Given the description of an element on the screen output the (x, y) to click on. 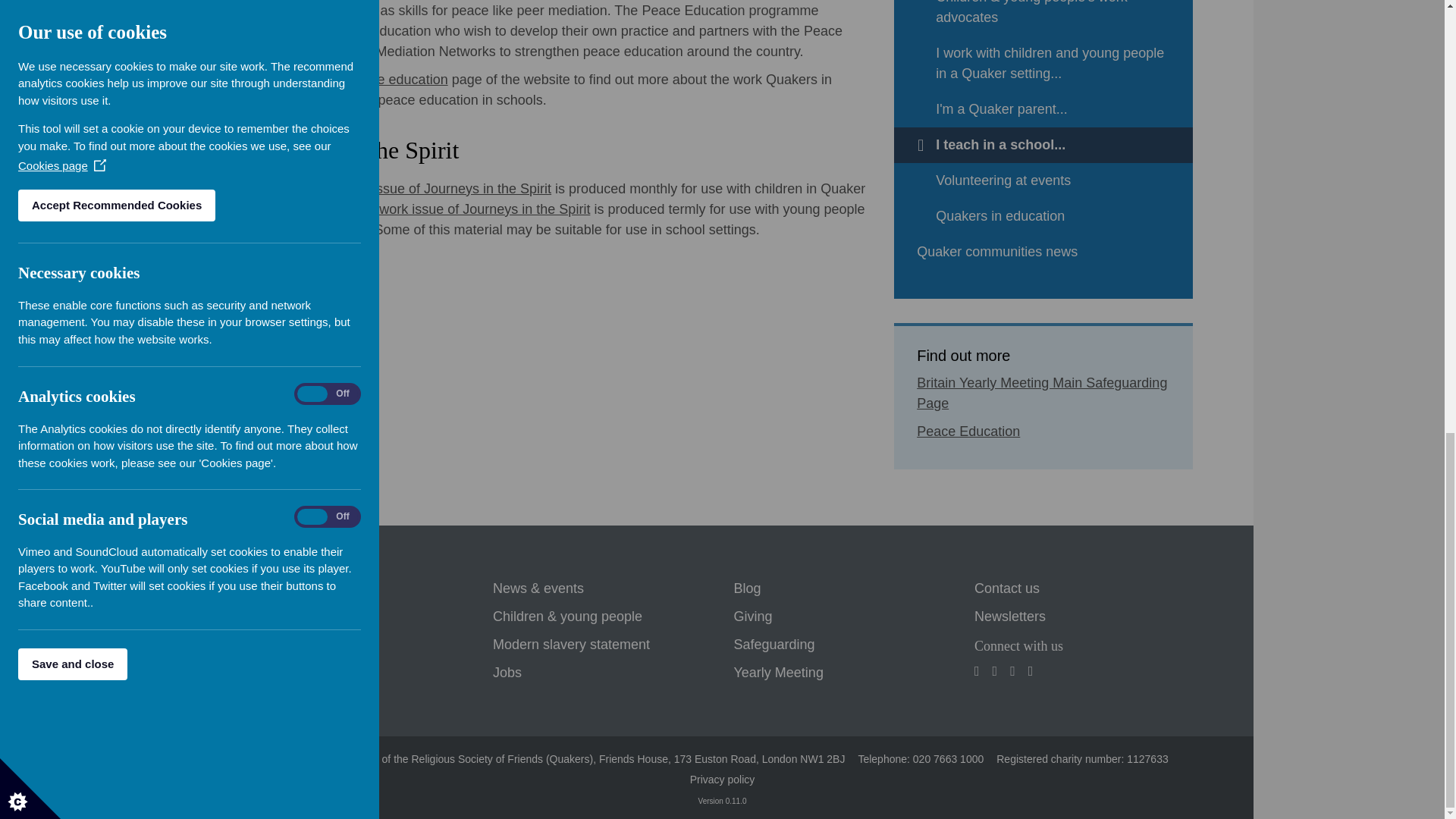
Britain Yearly Meeting Main Safeguarding Page (1042, 392)
peace education (397, 79)
Quaker communities news (1042, 252)
Jobs (507, 673)
I work with children and young people in a Quaker setting... (1042, 63)
Peace Education (968, 431)
Find a meeting (296, 588)
I teach in a school... (1042, 144)
Our organisation (301, 673)
Our work (279, 644)
